Given the description of an element on the screen output the (x, y) to click on. 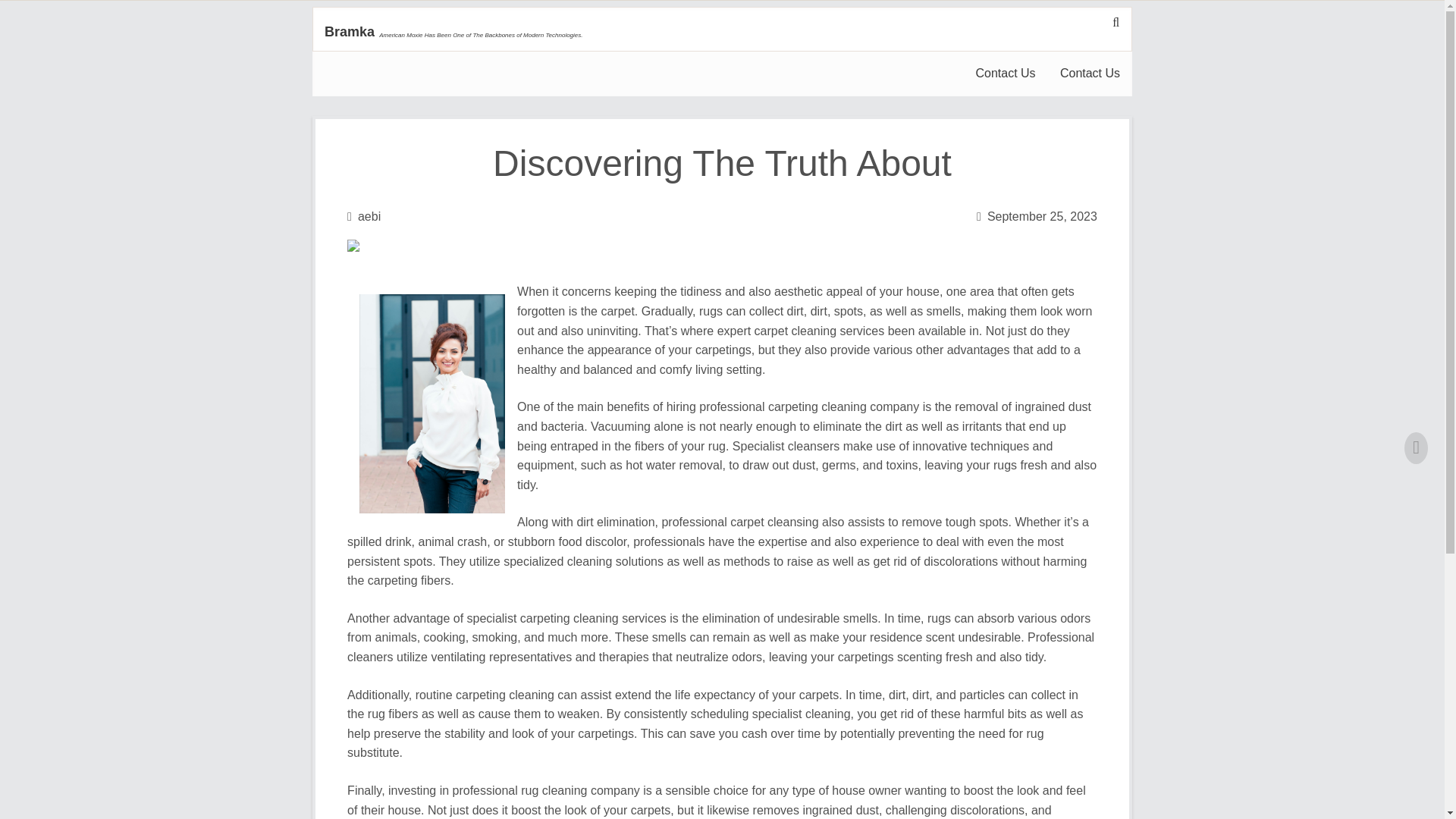
Contact Us (1090, 73)
Bramka (349, 32)
Contact Us (1004, 73)
